Given the description of an element on the screen output the (x, y) to click on. 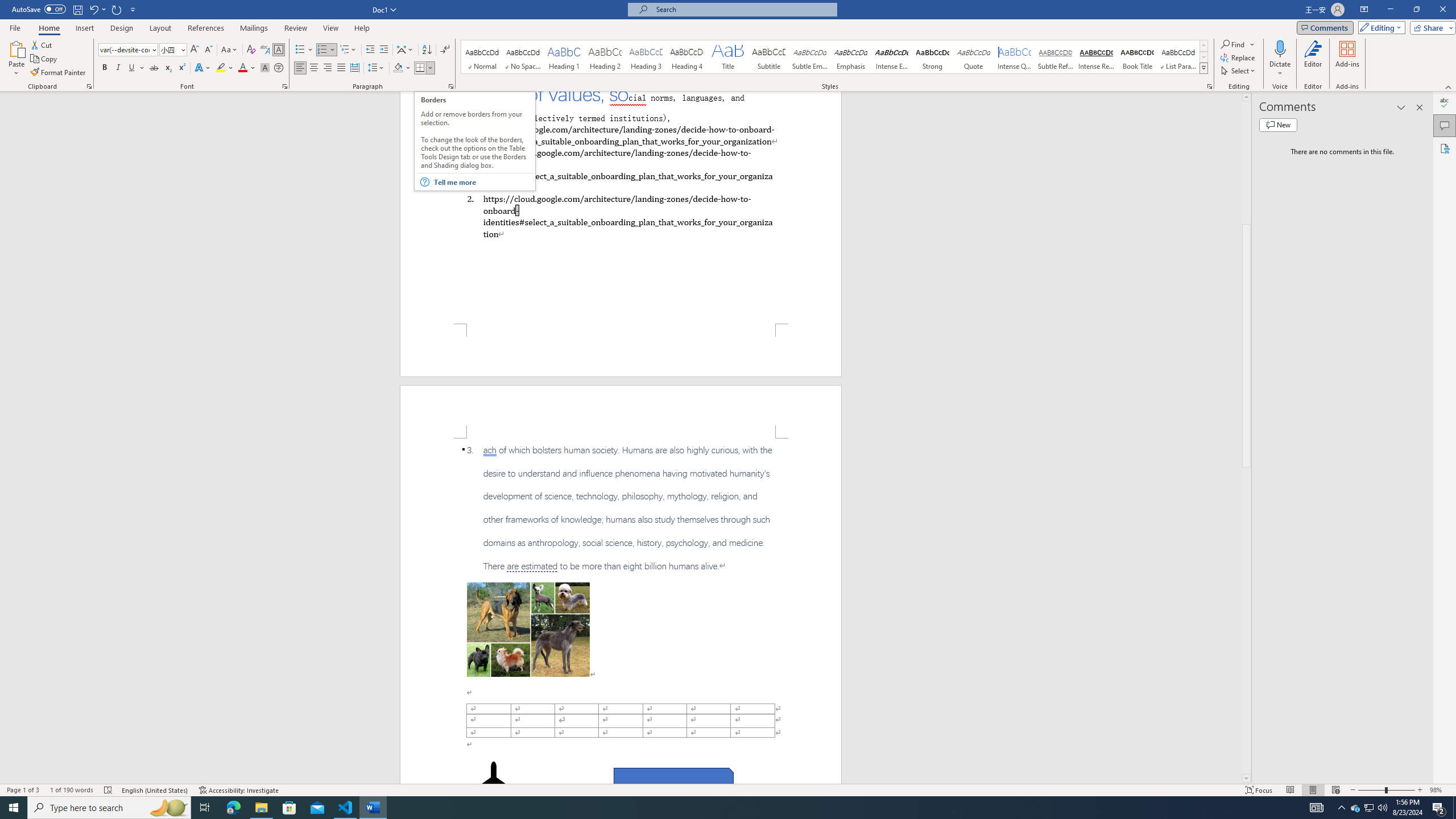
Emphasis (849, 56)
Heading 4 (686, 56)
Undo Border Bottom (92, 9)
Header -Section 1- (620, 411)
